Given the description of an element on the screen output the (x, y) to click on. 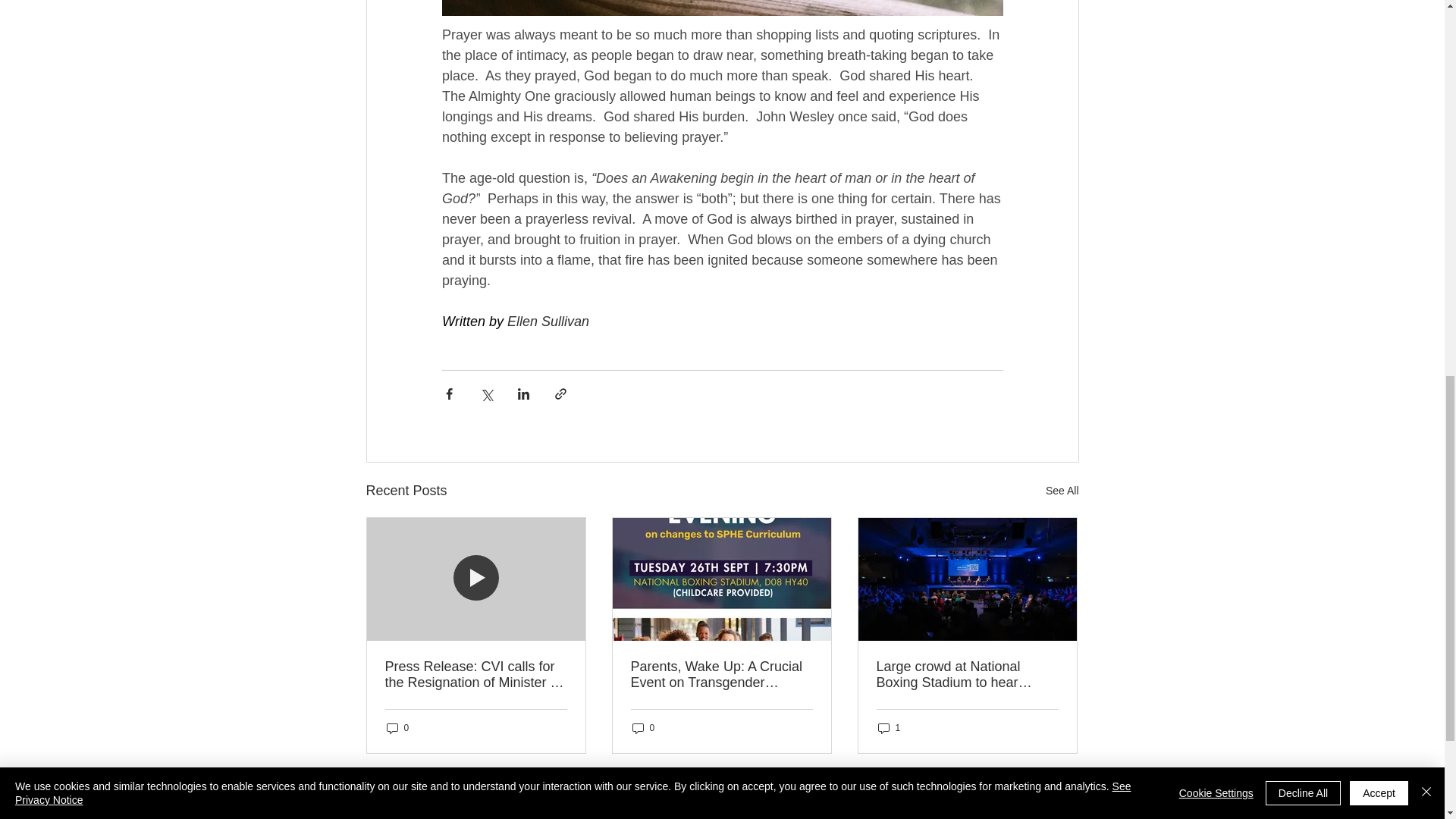
0 (397, 728)
See All (1061, 490)
1 (889, 728)
0 (643, 728)
